Given the description of an element on the screen output the (x, y) to click on. 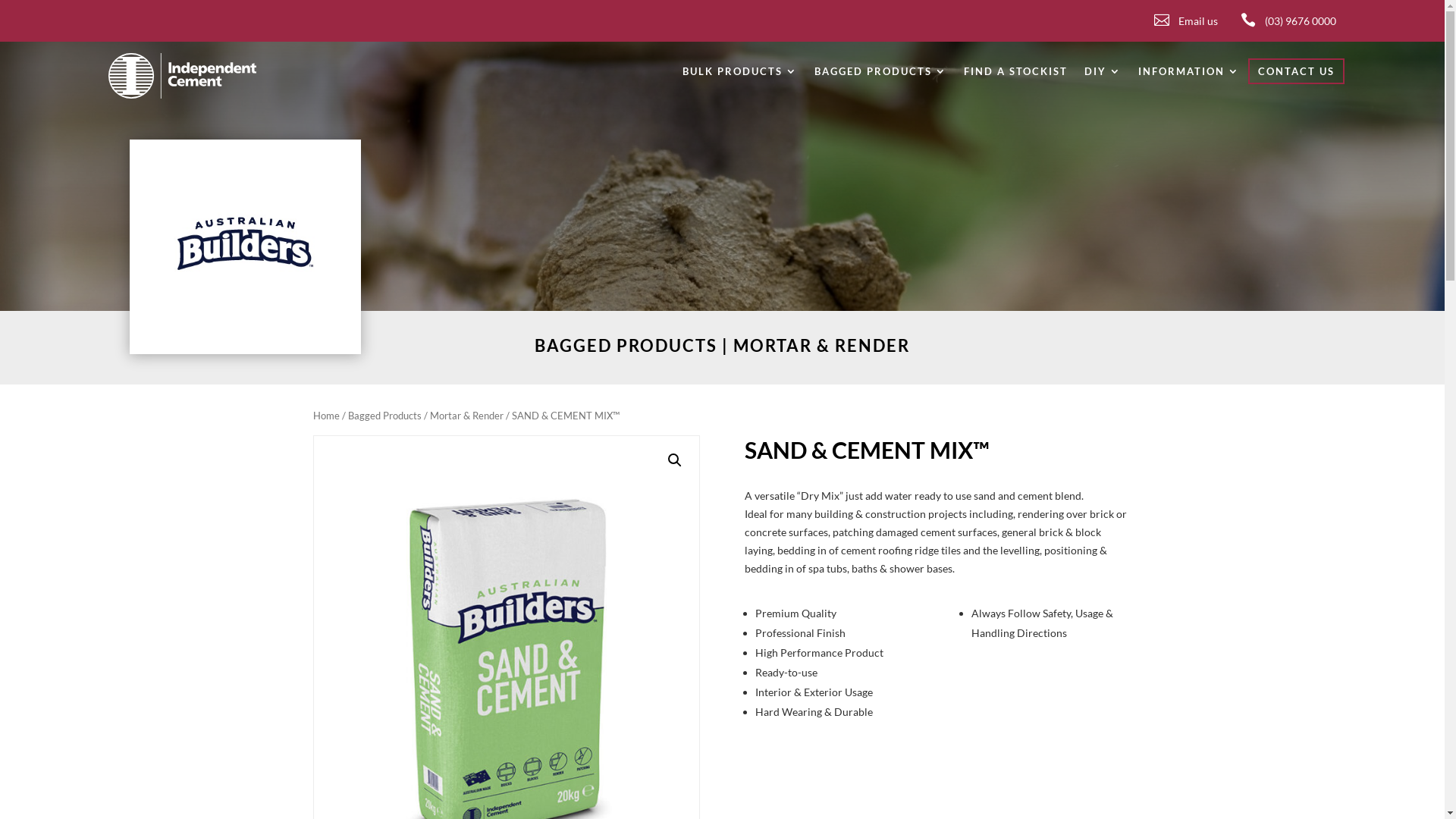
BULK PRODUCTS Element type: text (739, 78)
BAGGED PRODUCTS Element type: text (880, 78)
DIY Element type: text (1102, 78)
Home Element type: text (325, 415)
CONTACT US Element type: text (1296, 73)
Email us Element type: text (1197, 20)
(03) 9676 0000 Element type: text (1300, 20)
Bagged_products_top_rectangle-01 Element type: hover (244, 246)
ICL-logo-white Element type: hover (182, 75)
INFORMATION Element type: text (1188, 78)
Mortar & Render Element type: text (465, 415)
FIND A STOCKIST Element type: text (1015, 78)
Bagged Products Element type: text (383, 415)
